Given the description of an element on the screen output the (x, y) to click on. 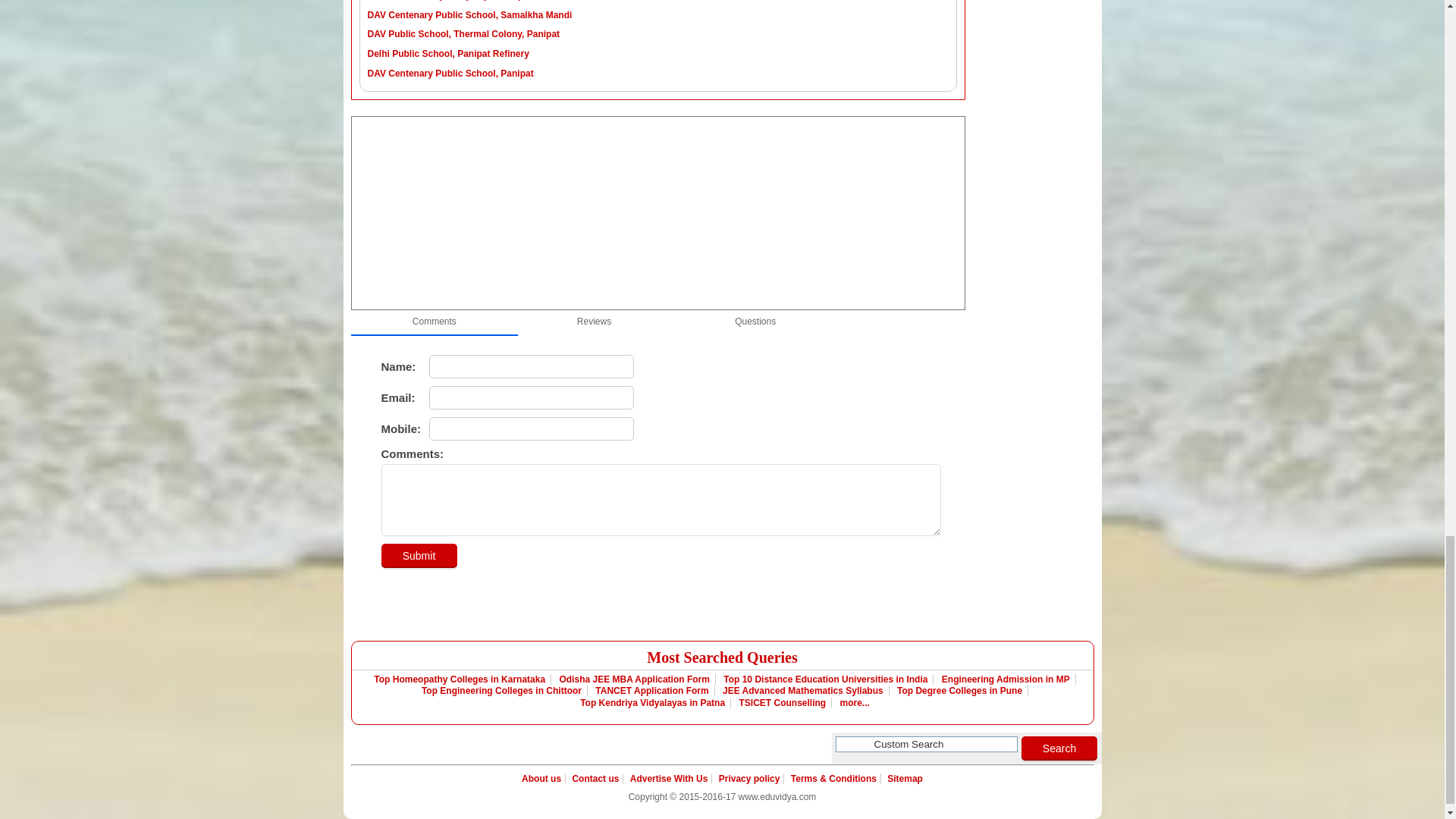
Top Engineering Colleges in Chittoor (502, 690)
Contact us (595, 778)
DAV Centenary Public School, Panipat (449, 72)
more... (851, 702)
Submit (418, 554)
Sitemap (903, 778)
Odisha JEE MBA Application Form (633, 679)
DAV Public School, Thermal Colony, Panipat (462, 33)
About us (543, 778)
